Given the description of an element on the screen output the (x, y) to click on. 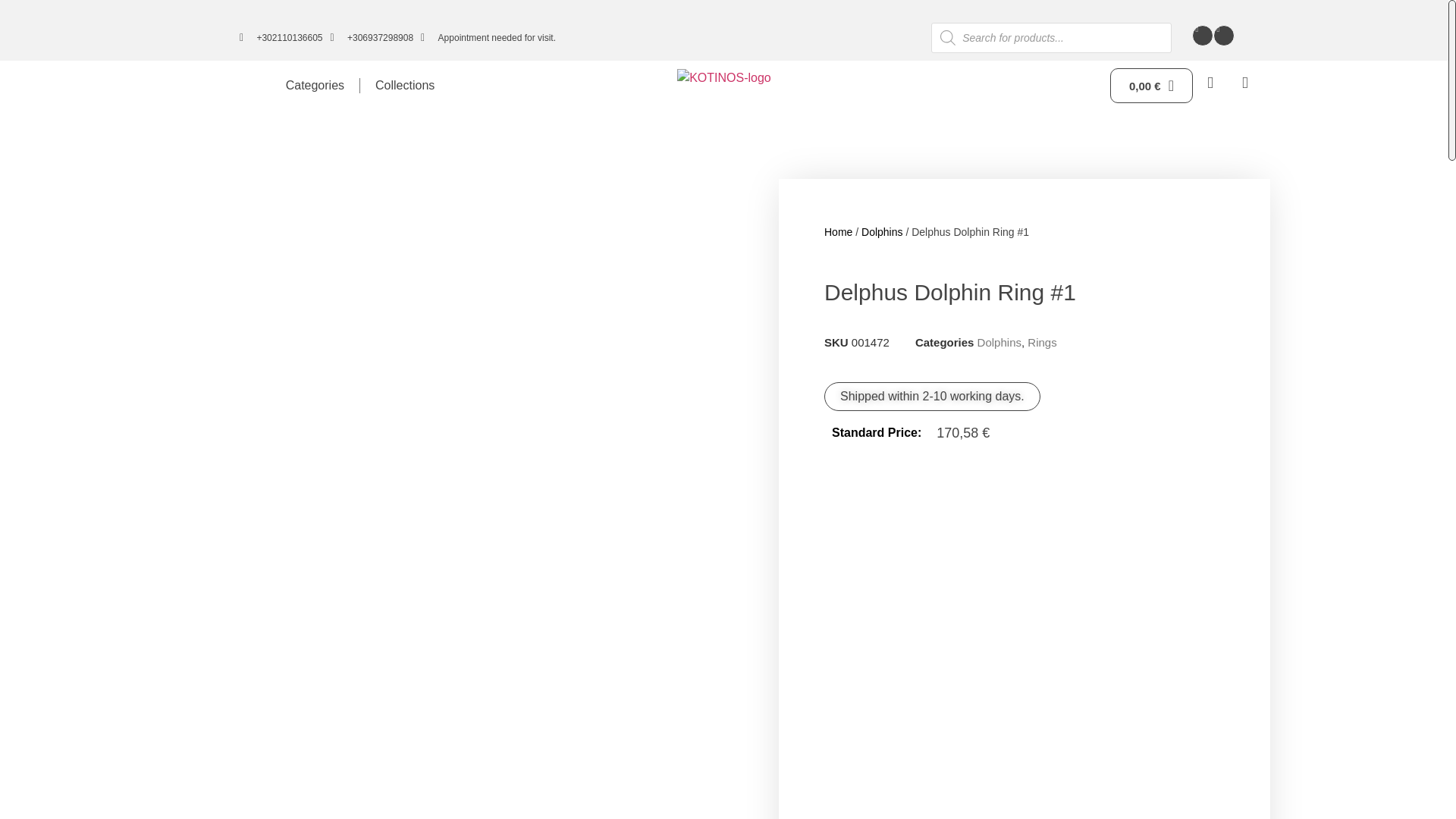
KOTINOS-logo (724, 77)
Appointment needed for visit. (488, 38)
Collections (404, 85)
Categories (314, 85)
